Given the description of an element on the screen output the (x, y) to click on. 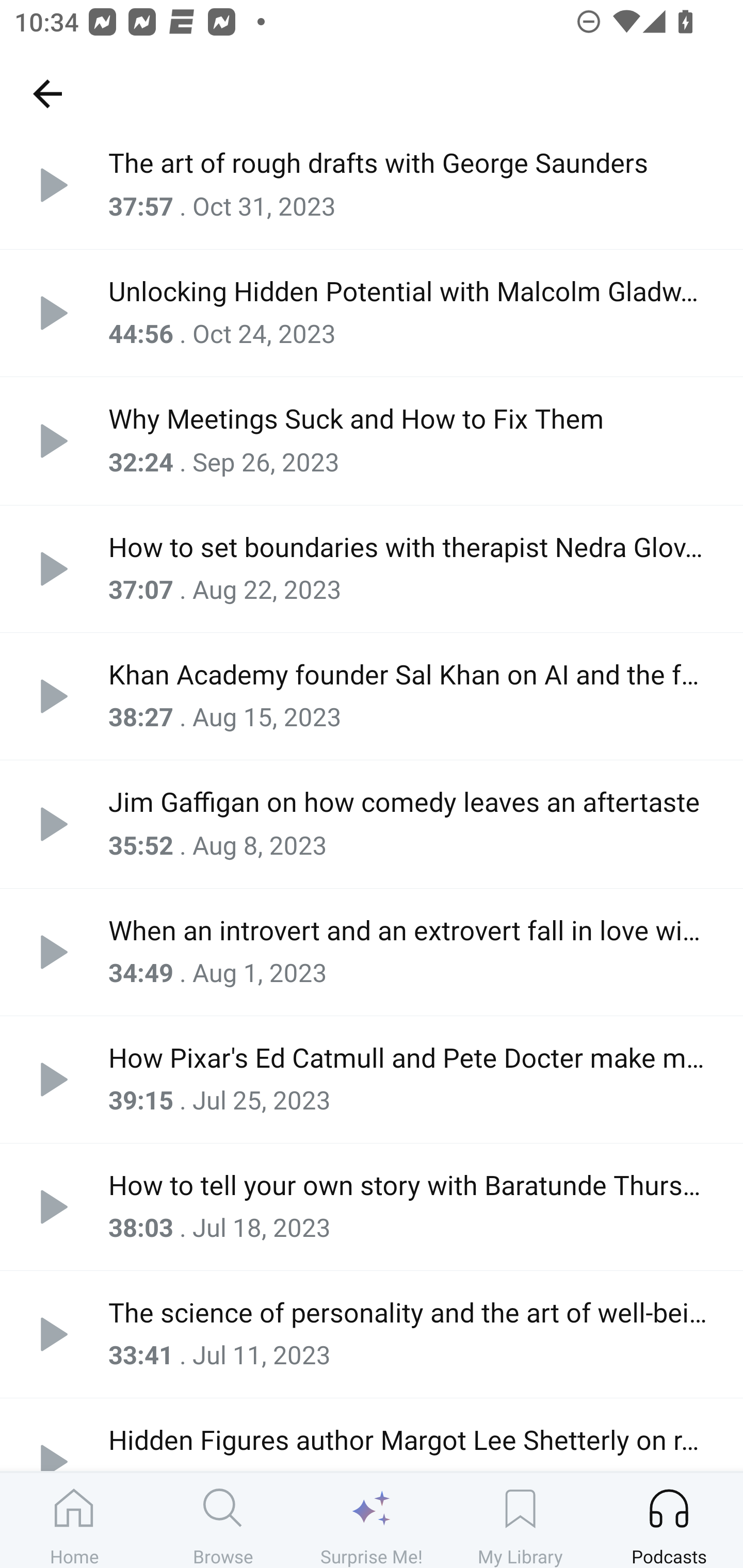
TED Podcasts, back (47, 92)
Home (74, 1520)
Browse (222, 1520)
Surprise Me! (371, 1520)
My Library (519, 1520)
Podcasts (668, 1520)
